Given the description of an element on the screen output the (x, y) to click on. 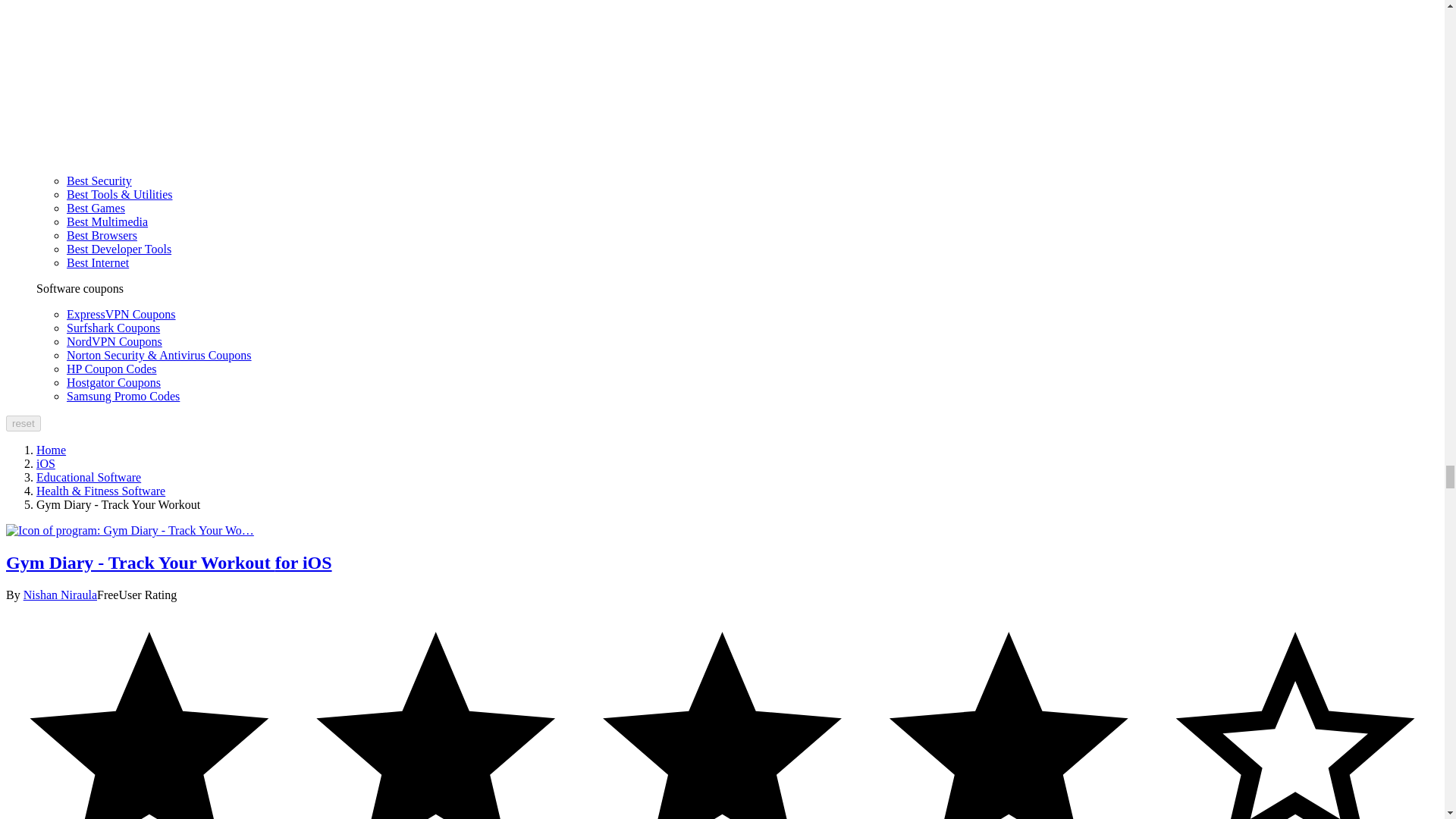
Gym Diary - Track Your Workout for iOS (129, 530)
reset (22, 423)
